Given the description of an element on the screen output the (x, y) to click on. 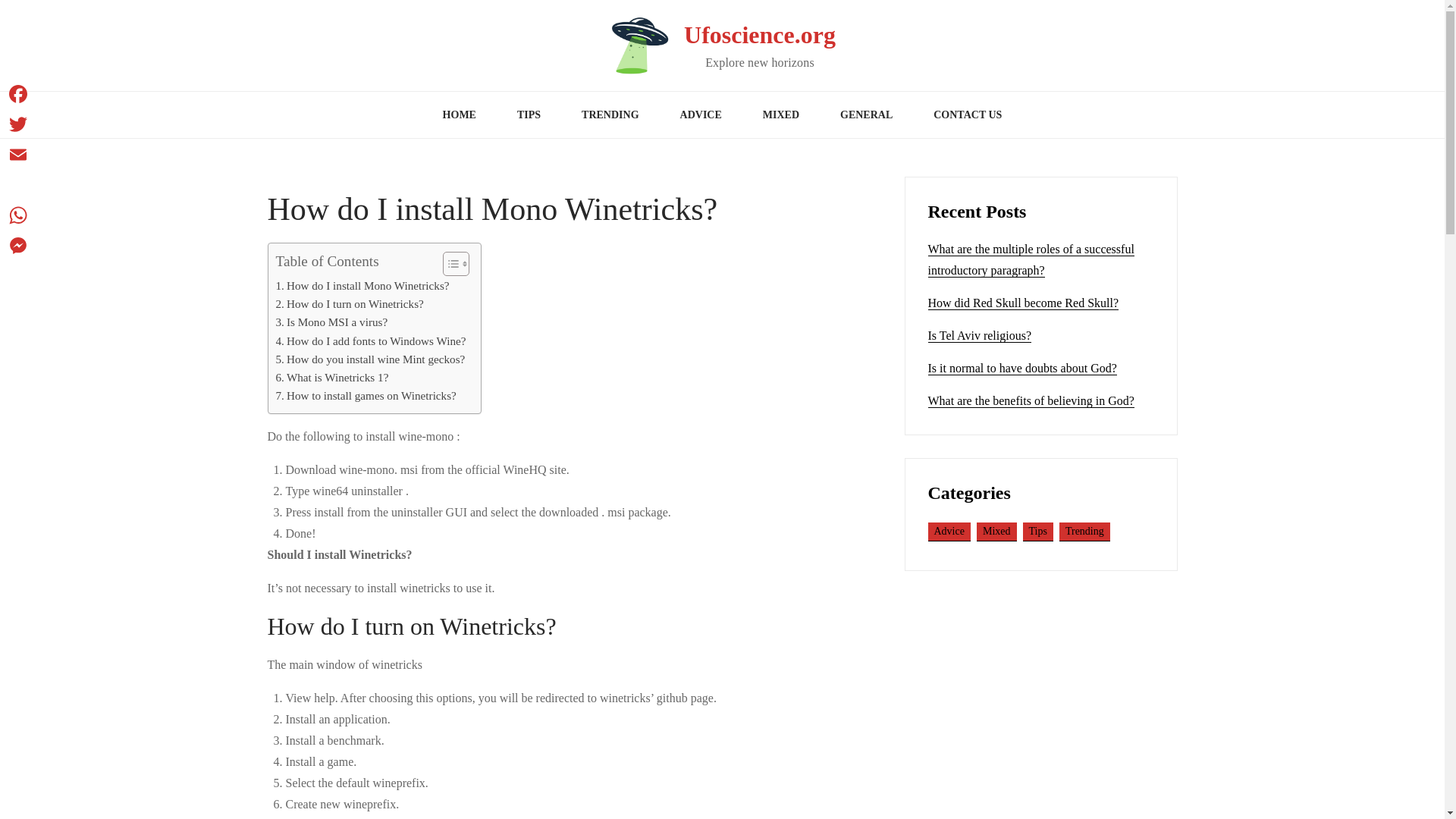
How do I install Mono Winetricks? (362, 285)
Tips (1037, 531)
How do I install Mono Winetricks? (362, 285)
TIPS (528, 114)
How do I add fonts to Windows Wine? (370, 341)
Mixed (996, 531)
How do I add fonts to Windows Wine? (370, 341)
What are the benefits of believing in God? (1031, 400)
How do I turn on Winetricks? (349, 303)
HOME (459, 114)
Facebook (17, 93)
TRENDING (610, 114)
MIXED (781, 114)
Is Tel Aviv religious? (980, 336)
What is Winetricks 1? (332, 377)
